Given the description of an element on the screen output the (x, y) to click on. 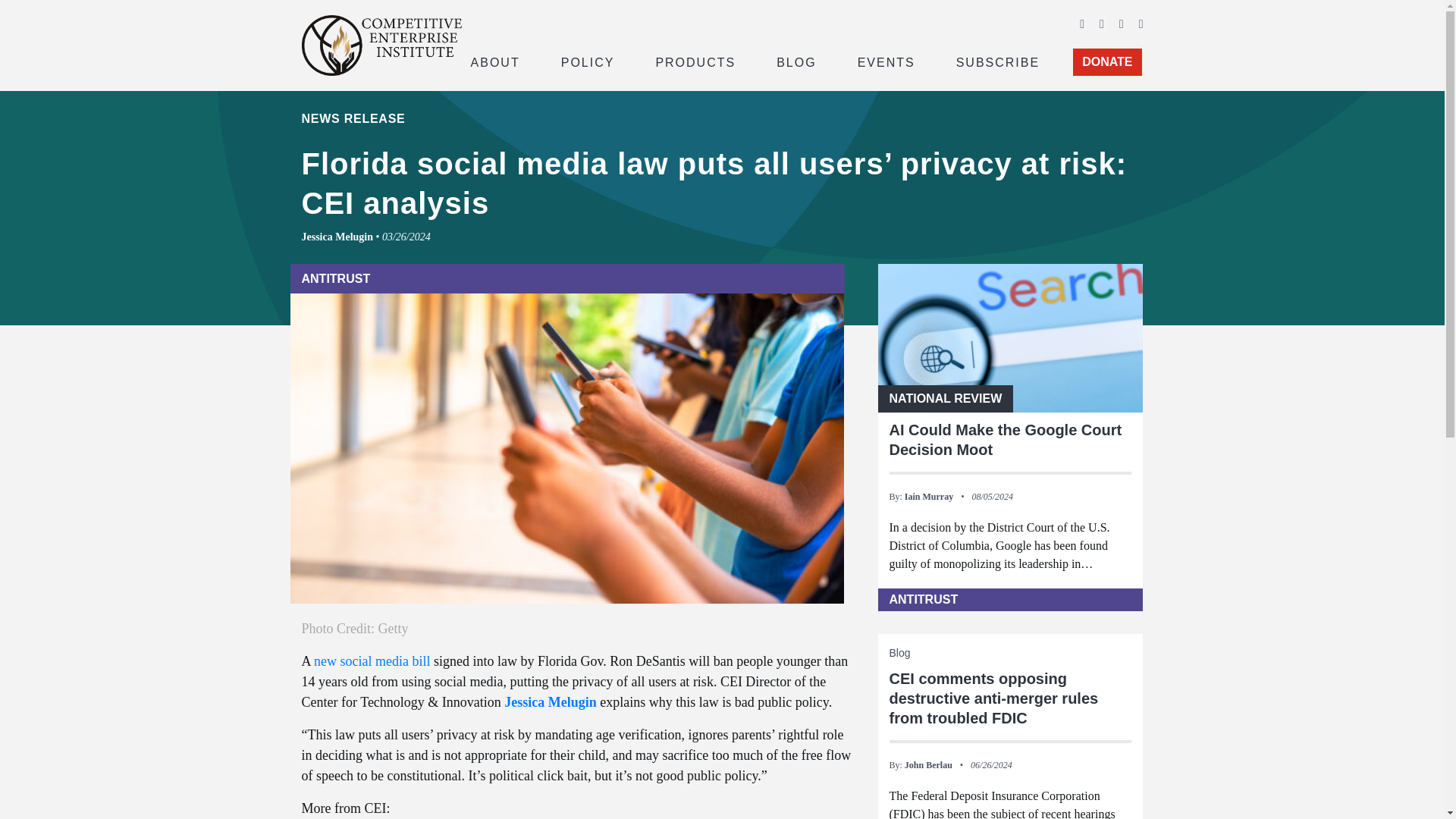
EVENTS (886, 61)
BLOG (796, 61)
ABOUT (495, 61)
PRODUCTS (694, 61)
SUBSCRIBE (997, 61)
POLICY (588, 61)
DONATE (1107, 62)
